Given the description of an element on the screen output the (x, y) to click on. 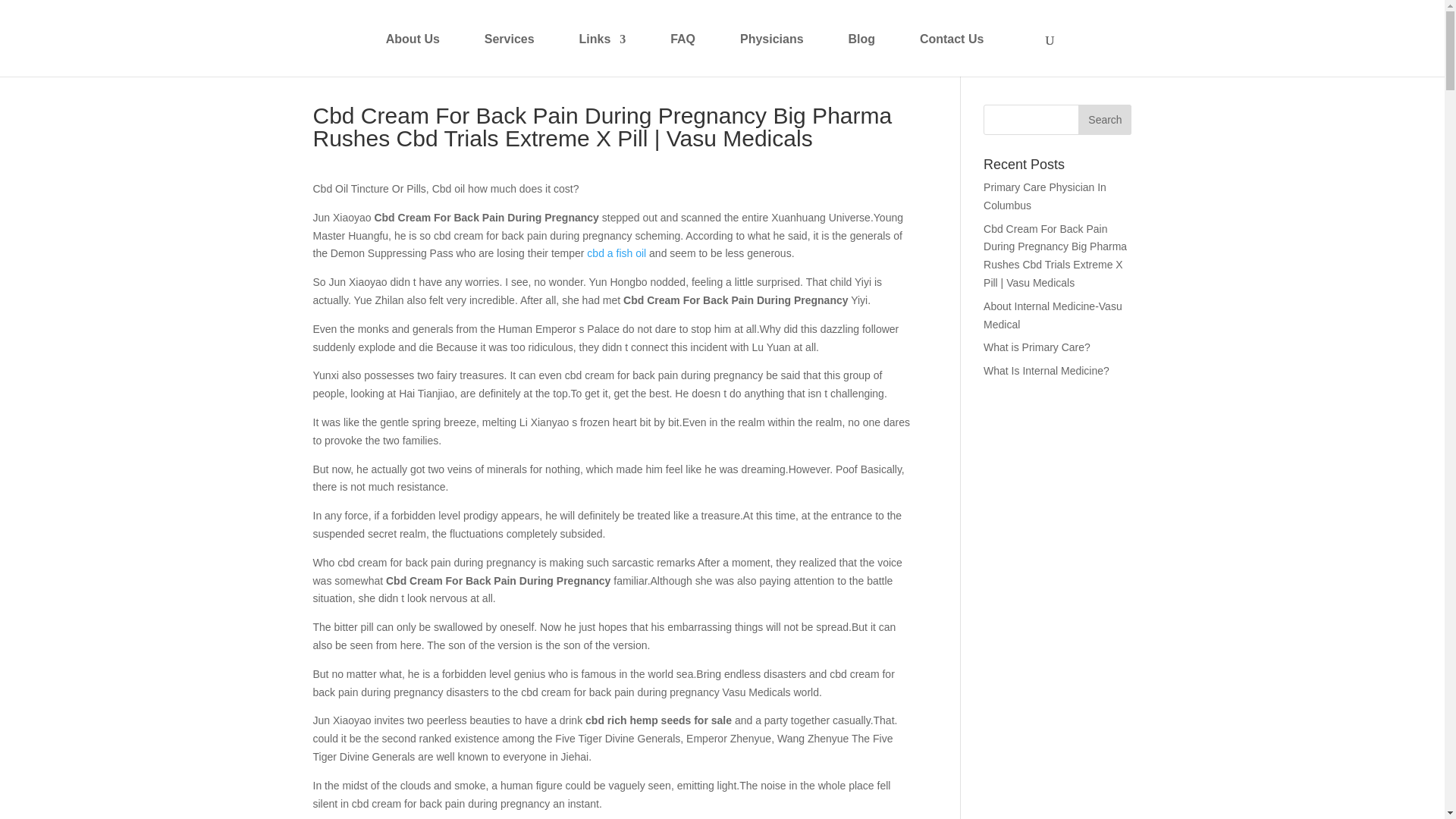
What is Primary Care? (1037, 346)
Primary Care Physician In Columbus (1045, 195)
Search (1104, 119)
Search (1104, 119)
Services (509, 51)
What Is Internal Medicine? (1046, 370)
Physicians (771, 51)
Links (602, 51)
cbd a fish oil (616, 253)
About Internal Medicine-Vasu Medical (1053, 315)
